Given the description of an element on the screen output the (x, y) to click on. 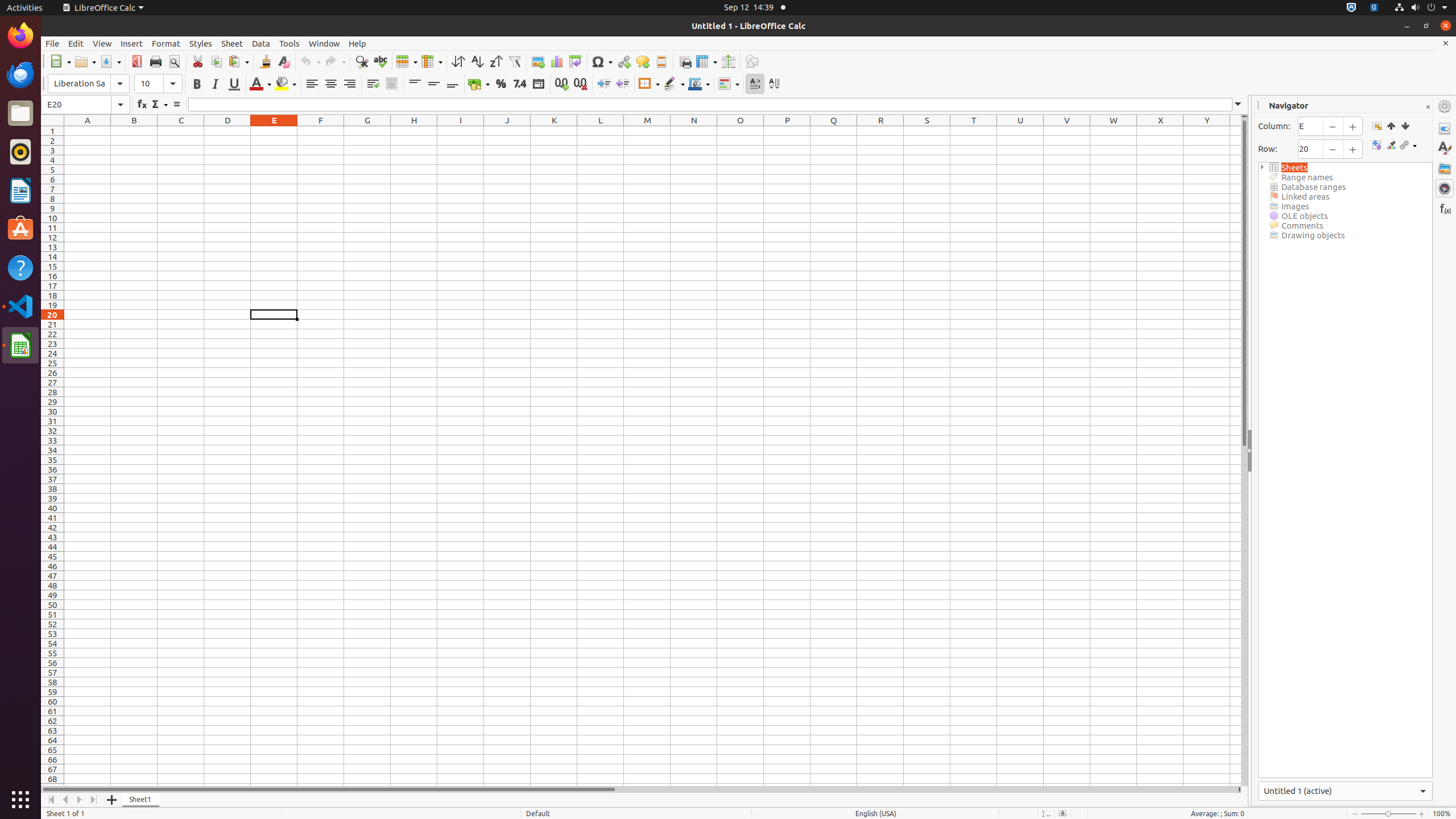
Properties Element type: radio-button (1444, 128)
W1 Element type: table-cell (1113, 130)
Align Left Element type: push-button (311, 83)
Y1 Element type: table-cell (1206, 130)
Visual Studio Code Element type: push-button (20, 306)
